Given the description of an element on the screen output the (x, y) to click on. 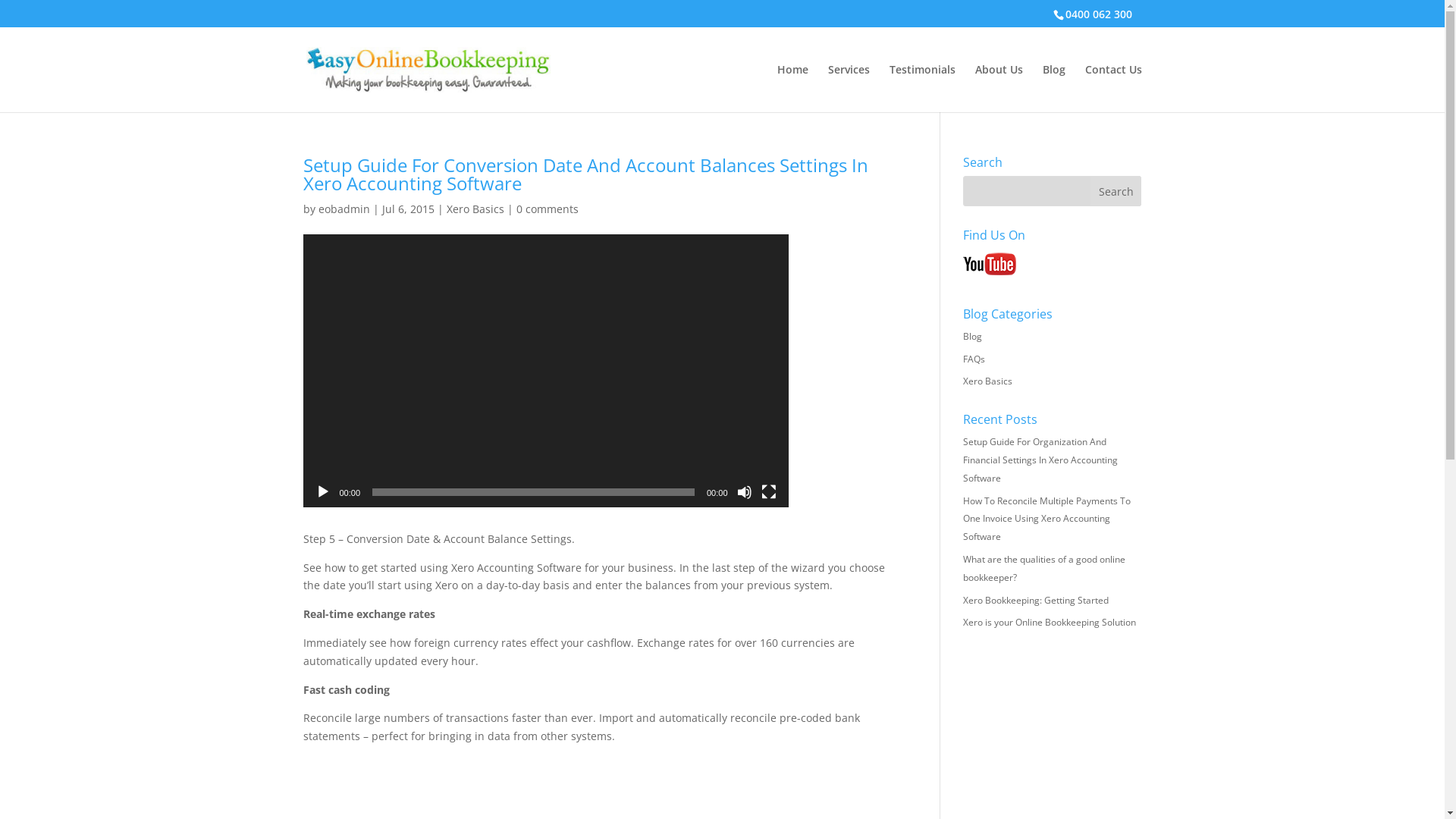
Xero Basics Element type: text (987, 380)
Blog Element type: text (1052, 88)
Mute Element type: hover (744, 491)
Search Element type: text (1116, 190)
Xero is your Online Bookkeeping Solution Element type: text (1049, 621)
Services Element type: text (848, 88)
About Us Element type: text (998, 88)
Testimonials Element type: text (921, 88)
eobadmin Element type: text (344, 208)
Contact Us Element type: text (1112, 88)
FAQs Element type: text (974, 358)
Fullscreen Element type: hover (768, 491)
What are the qualities of a good online bookkeeper? Element type: text (1044, 567)
Home Element type: text (791, 88)
Play Element type: hover (322, 491)
0 comments Element type: text (546, 208)
Blog Element type: text (972, 335)
Xero Basics Element type: text (474, 208)
Xero Bookkeeping: Getting Started Element type: text (1035, 599)
